Given the description of an element on the screen output the (x, y) to click on. 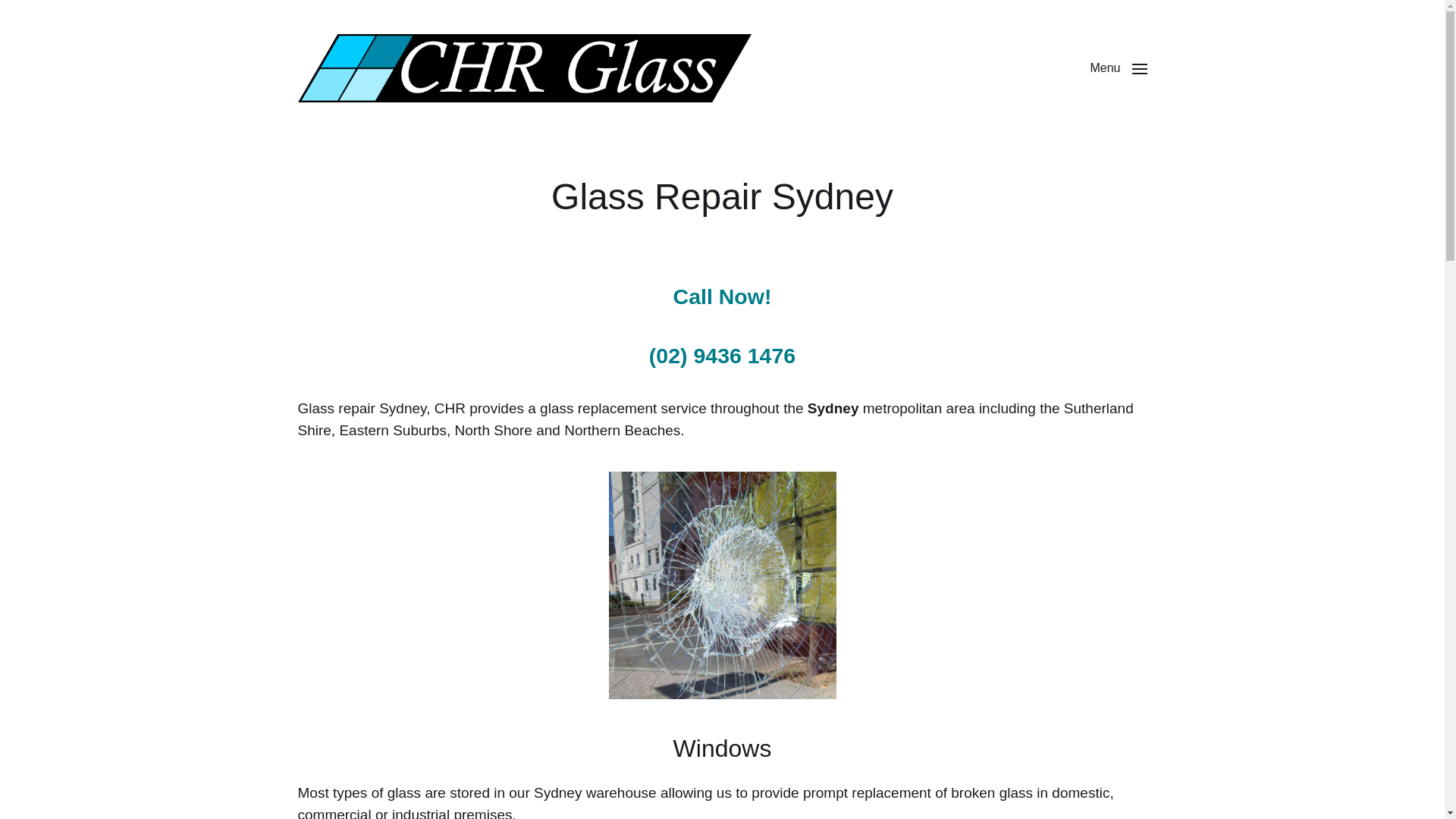
Menu Element type: text (1117, 68)
